Given the description of an element on the screen output the (x, y) to click on. 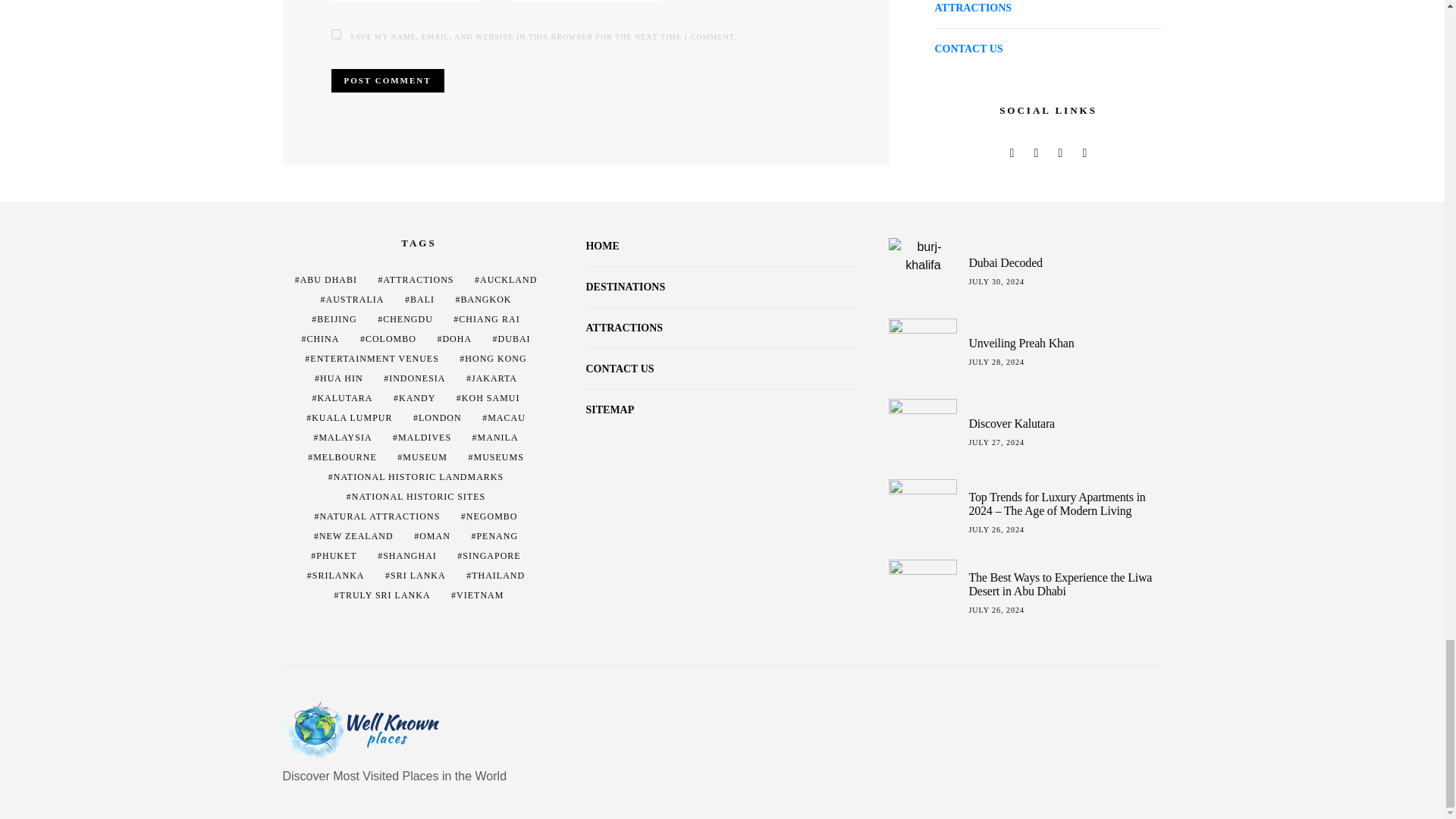
yes (335, 34)
Post Comment (387, 80)
